Given the description of an element on the screen output the (x, y) to click on. 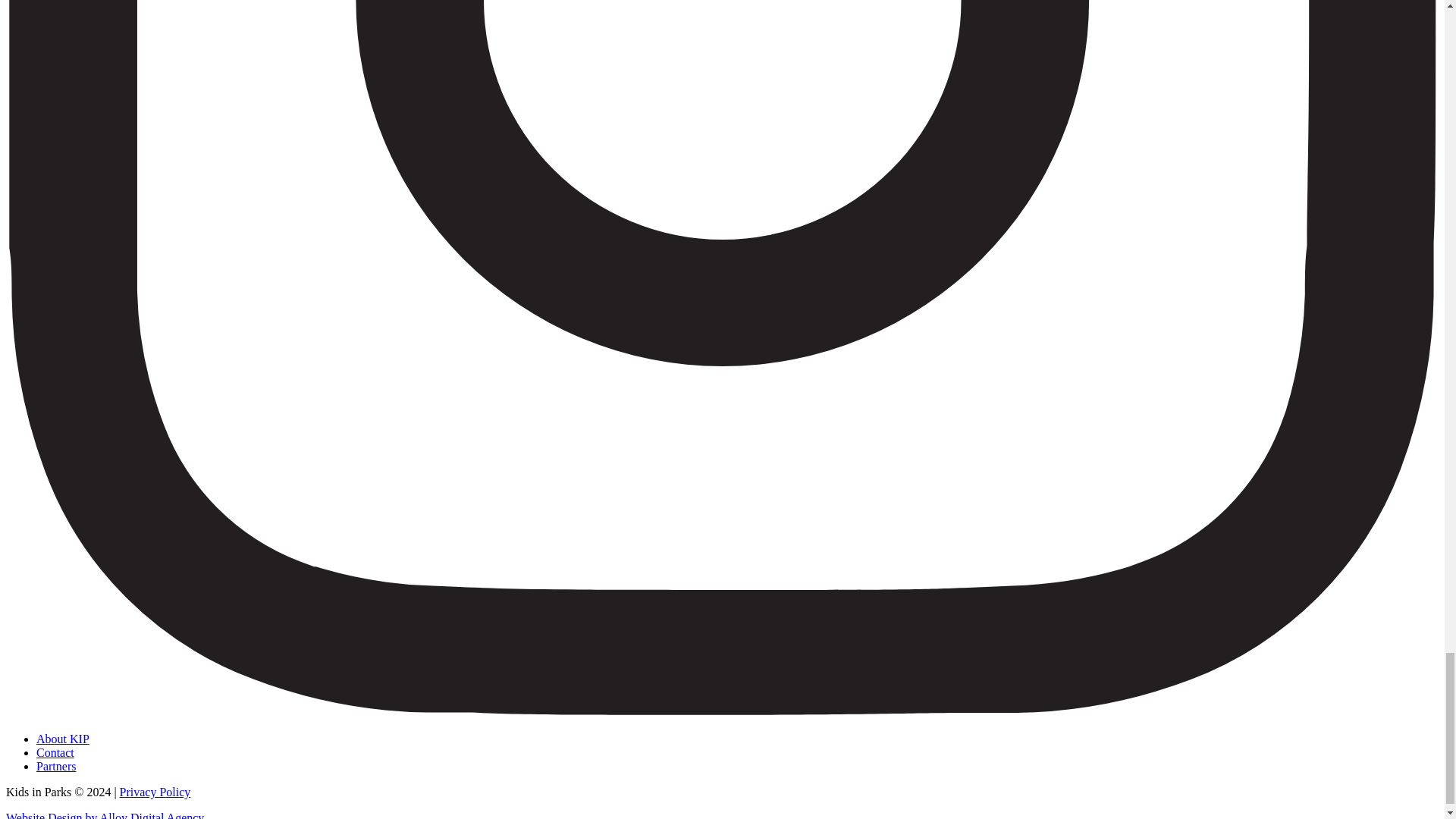
Partners (55, 766)
Privacy Policy (154, 791)
Contact (55, 752)
About KIP (62, 738)
